Given the description of an element on the screen output the (x, y) to click on. 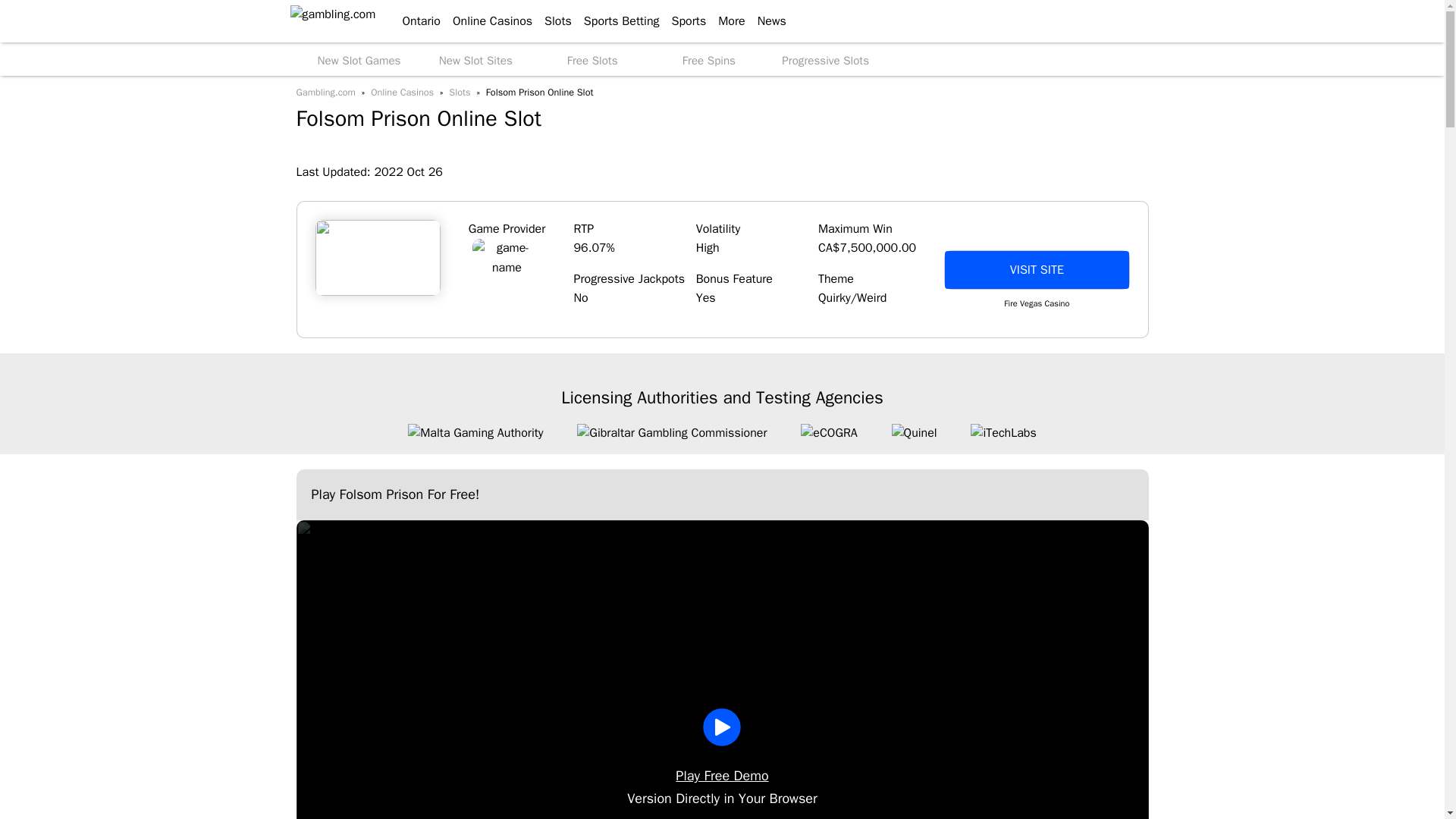
Ontario (414, 21)
Online Casinos (486, 21)
Slots (552, 21)
